Given the description of an element on the screen output the (x, y) to click on. 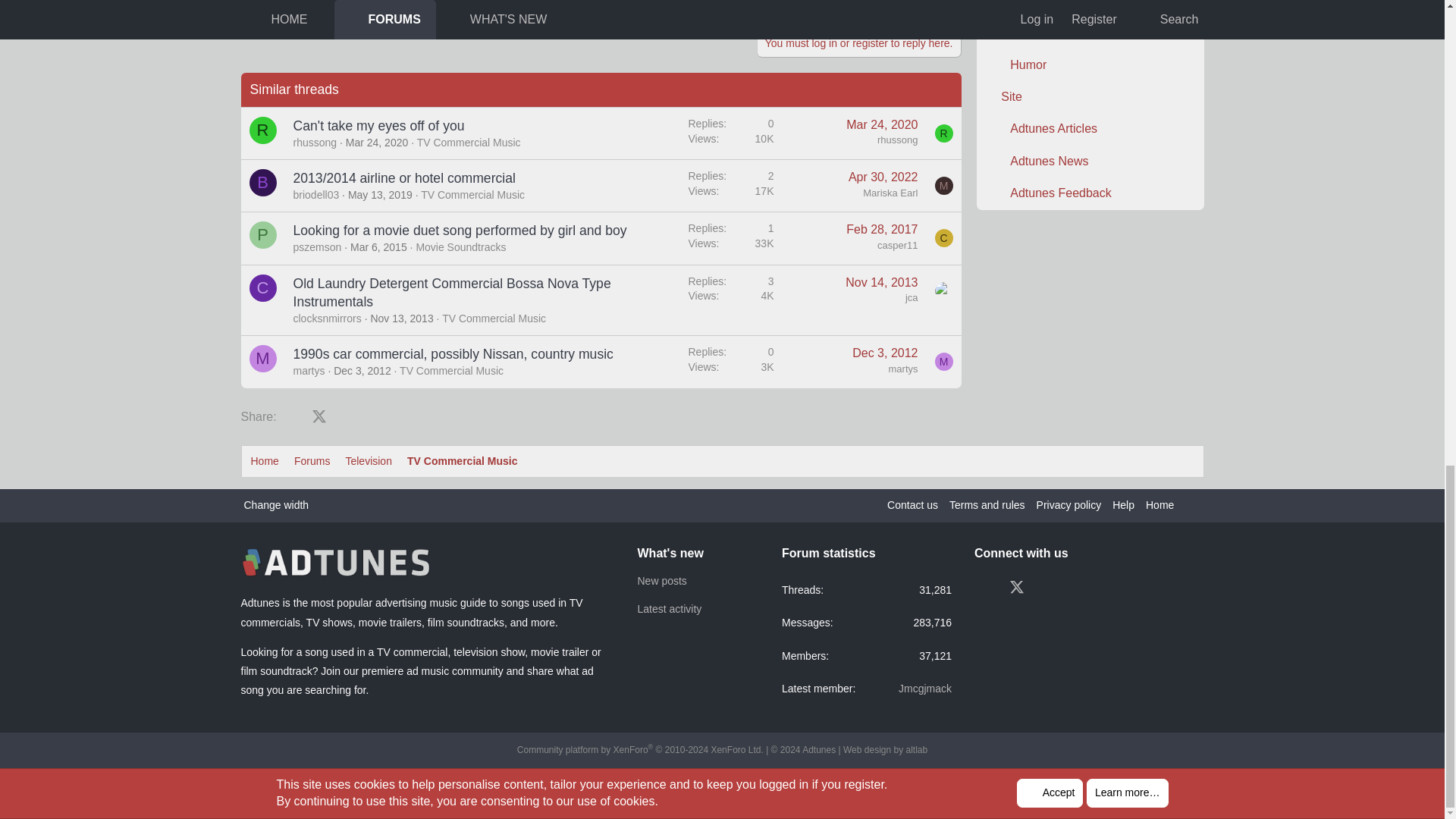
First message reaction score: 0 (730, 185)
First message reaction score: 0 (730, 132)
Mar 6, 2015 at 3:32 PM (378, 246)
First message reaction score: 0 (730, 299)
Apr 30, 2022 at 5:07 AM (883, 176)
Mar 24, 2020 at 6:35 PM (377, 142)
May 13, 2019 at 2:59 AM (379, 194)
Mar 24, 2020 at 6:35 PM (881, 124)
First message reaction score: 0 (730, 238)
Nov 13, 2013 at 11:24 PM (400, 318)
